Given the description of an element on the screen output the (x, y) to click on. 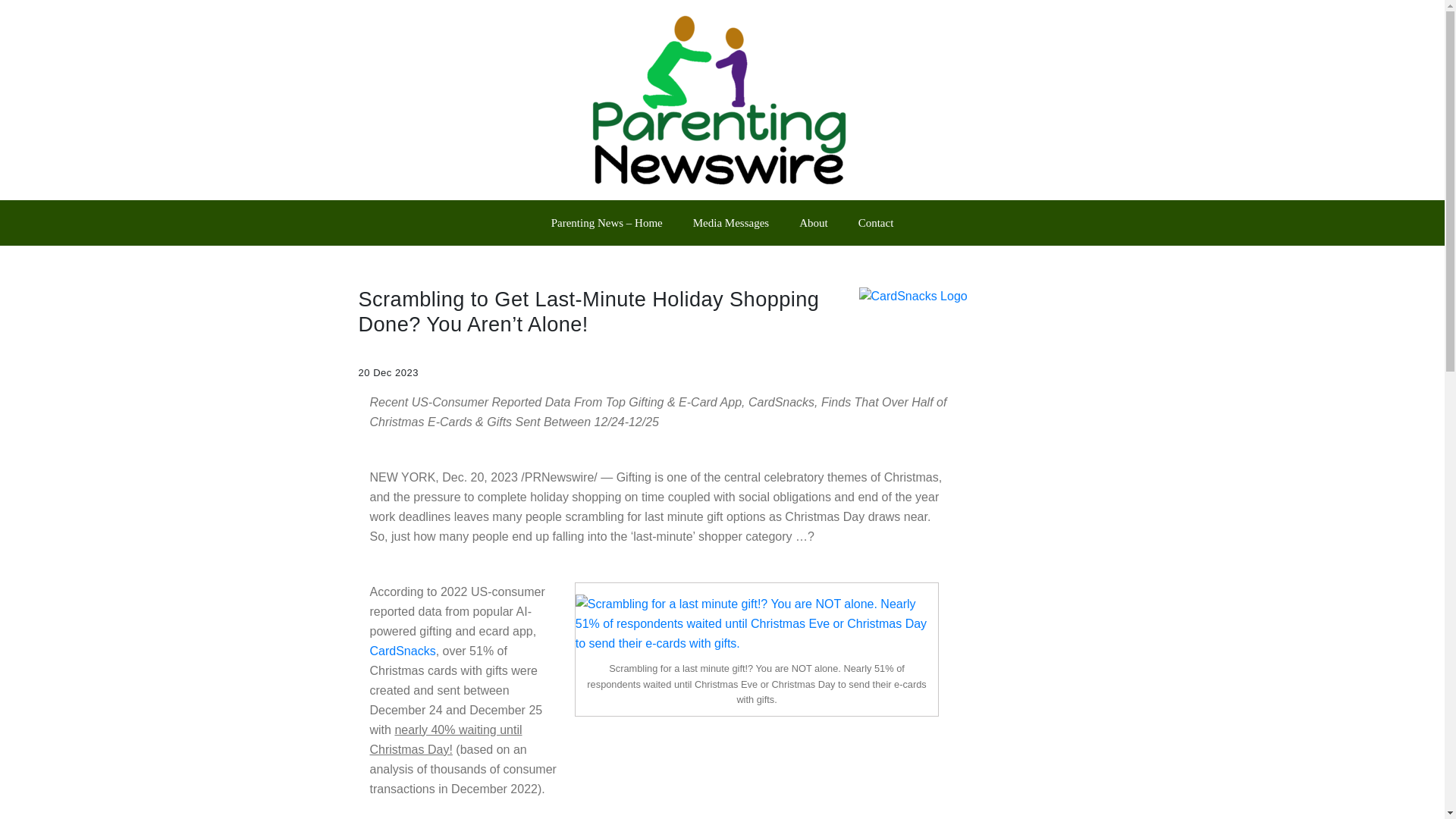
Media Messages (731, 222)
CardSnacks (402, 650)
CardSnacks Logo (972, 296)
About (813, 222)
Contact (875, 222)
